Given the description of an element on the screen output the (x, y) to click on. 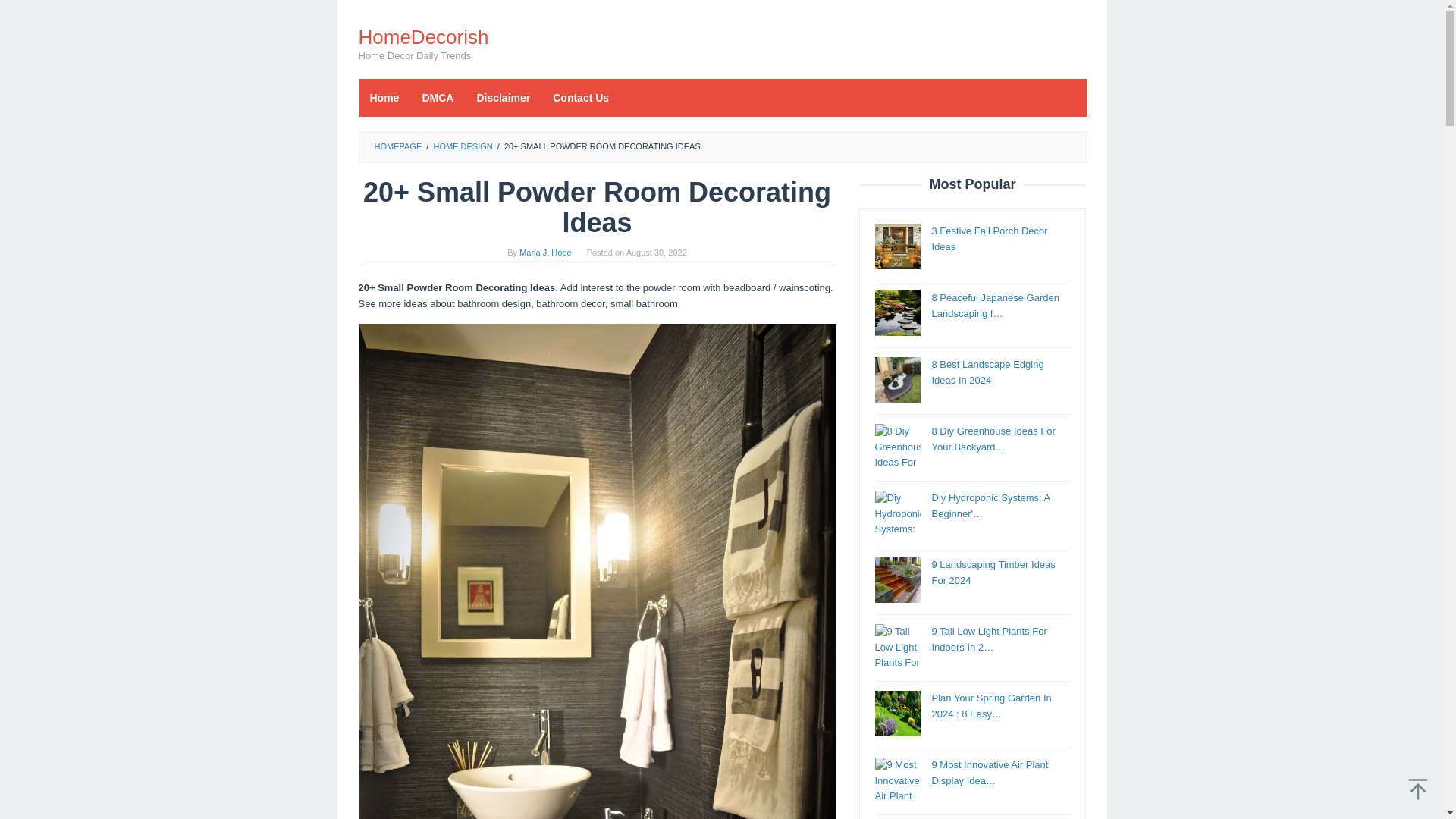
HOMEPAGE (398, 145)
Permalink to: Maria J. Hope (544, 252)
Maria J. Hope (544, 252)
DMCA (437, 97)
HOME DESIGN (462, 145)
3 Festive Fall Porch Decor Ideas (988, 238)
HomeDecorish (422, 36)
Disclaimer (502, 97)
HomeDecorish (422, 36)
Home (384, 97)
9 Landscaping Timber Ideas For 2024 (992, 572)
Contact Us (580, 97)
8 Best Landscape Edging Ideas In 2024 (987, 371)
